Given the description of an element on the screen output the (x, y) to click on. 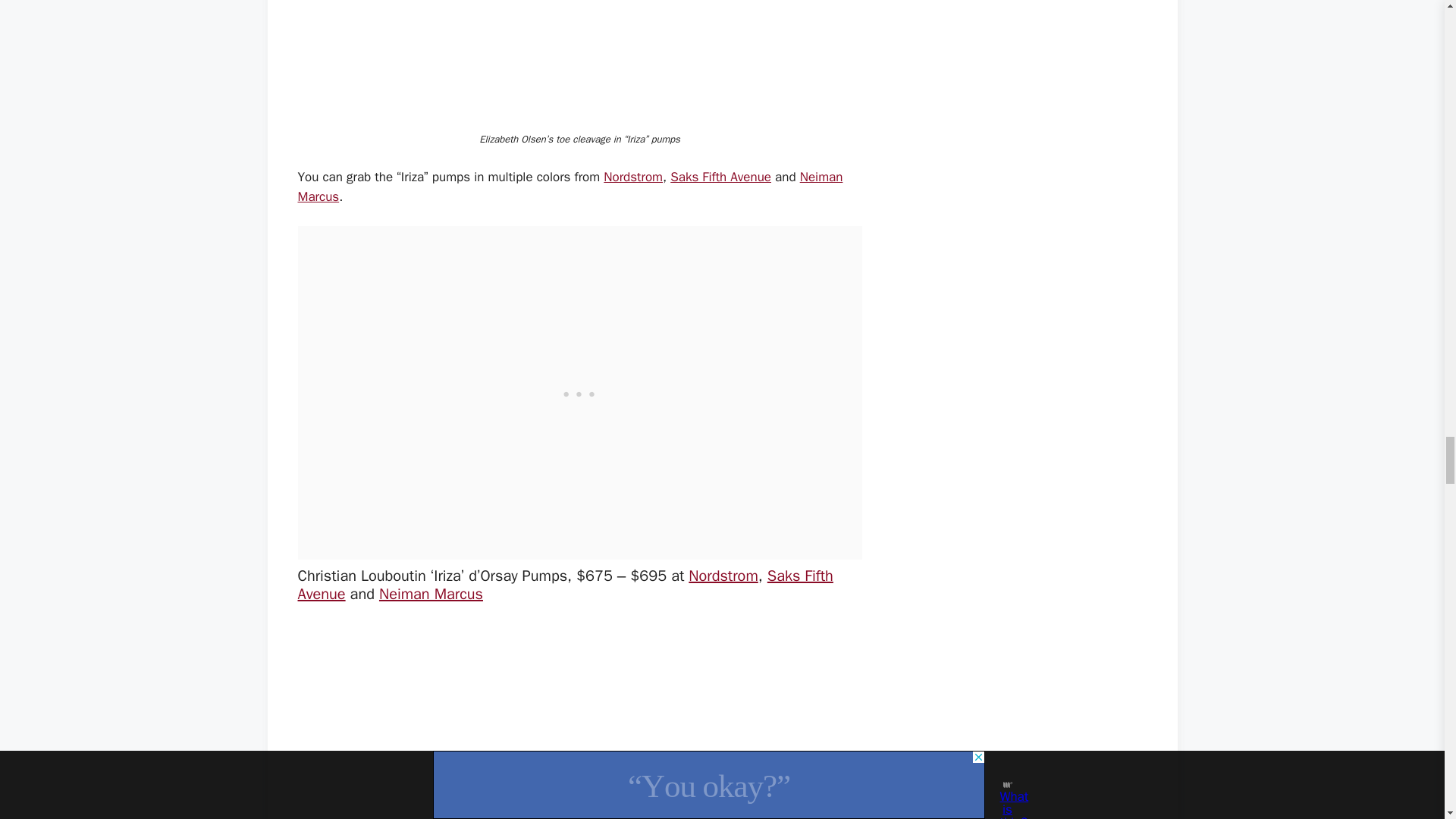
Nordstrom (722, 575)
Saks Fifth Avenue (564, 584)
Saks Fifth Avenue (720, 176)
Neiman Marcus (570, 186)
Neiman Marcus (430, 593)
Nordstrom (633, 176)
